Given the description of an element on the screen output the (x, y) to click on. 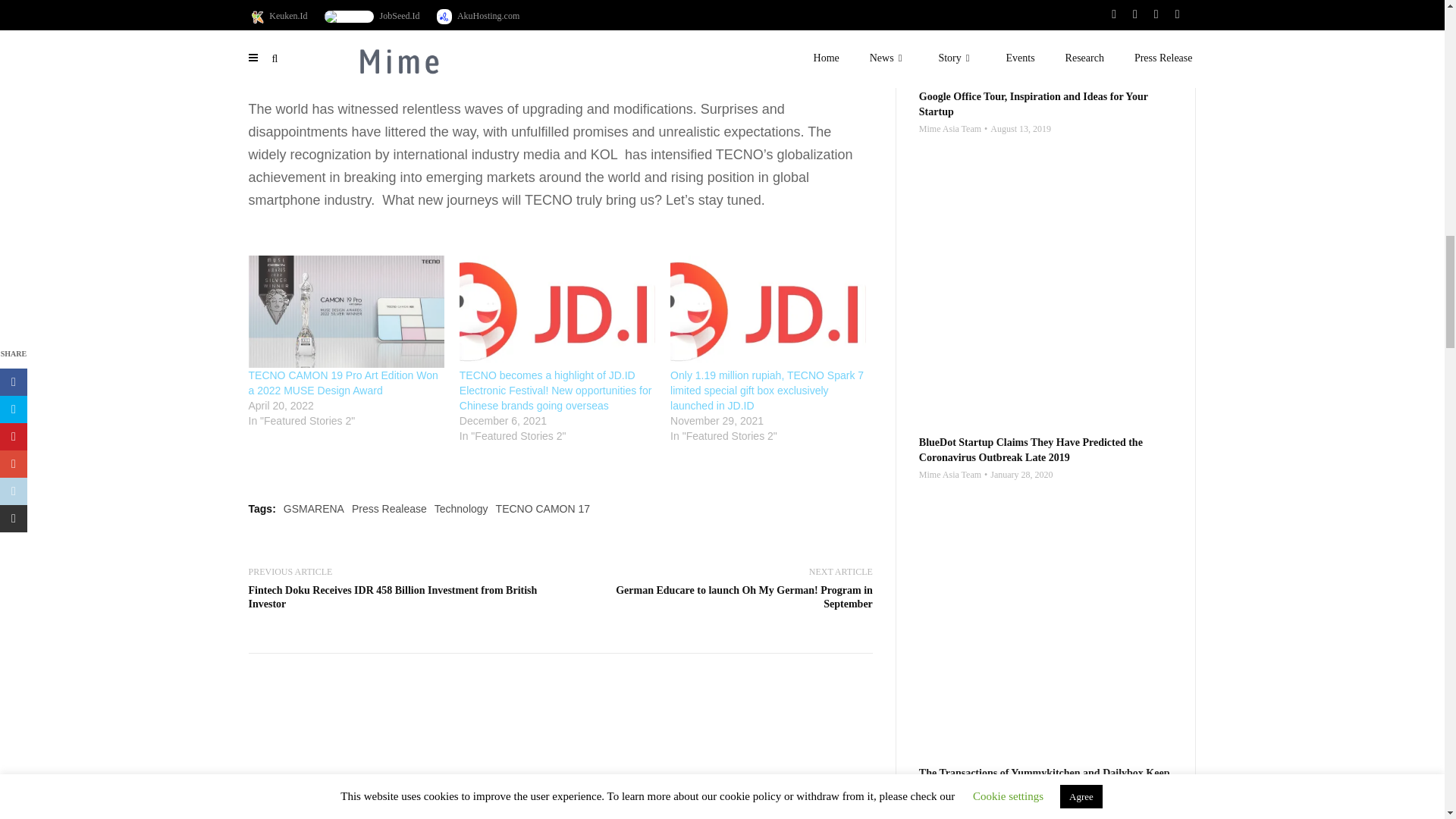
TECNO CAMON 19 Pro Art Edition Won a 2022 MUSE Design Award (346, 311)
TECNO CAMON 19 Pro Art Edition Won a 2022 MUSE Design Award (343, 382)
